Given the description of an element on the screen output the (x, y) to click on. 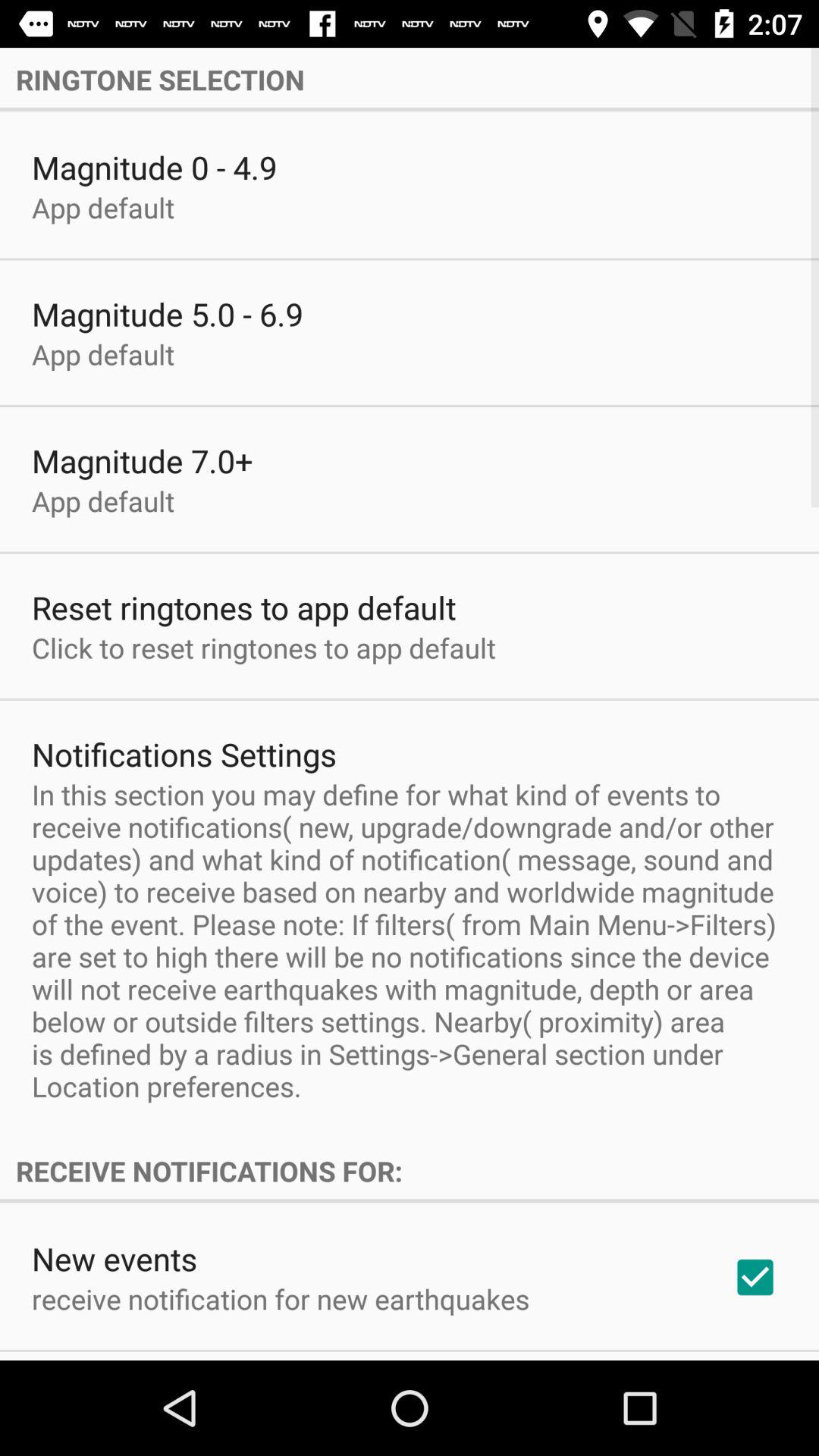
turn off icon above the magnitude 0 4 icon (409, 79)
